Given the description of an element on the screen output the (x, y) to click on. 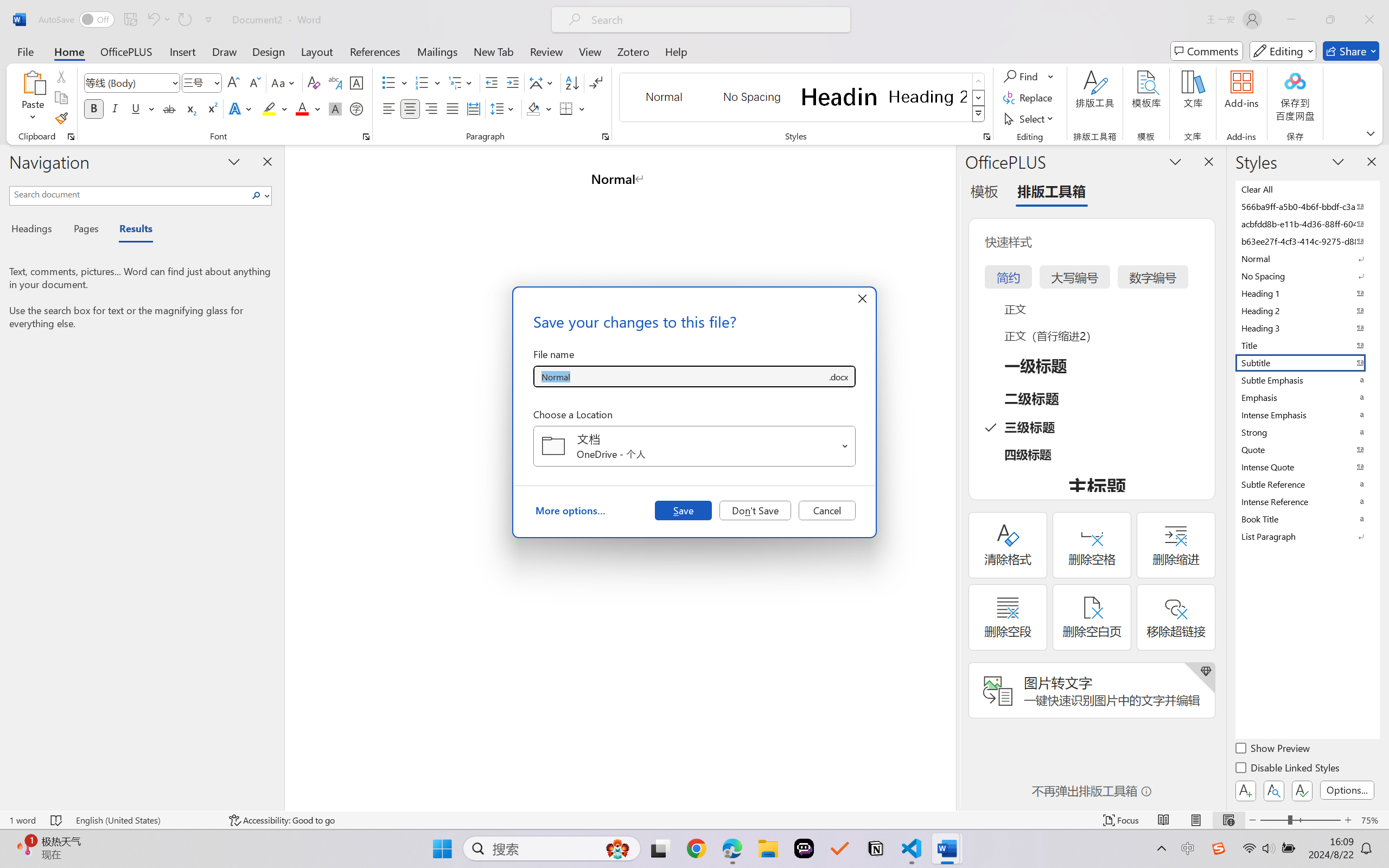
Asian Layout (542, 82)
Web Layout (1228, 819)
Draw (224, 51)
b63ee27f-4cf3-414c-9275-d88e3f90795e (1306, 240)
Quote (1306, 449)
AutomationID: BadgeAnchorLargeTicker (24, 847)
Comments (1206, 50)
Intense Quote (1306, 466)
Pages (85, 229)
Share (1350, 51)
Sort... (571, 82)
